Given the description of an element on the screen output the (x, y) to click on. 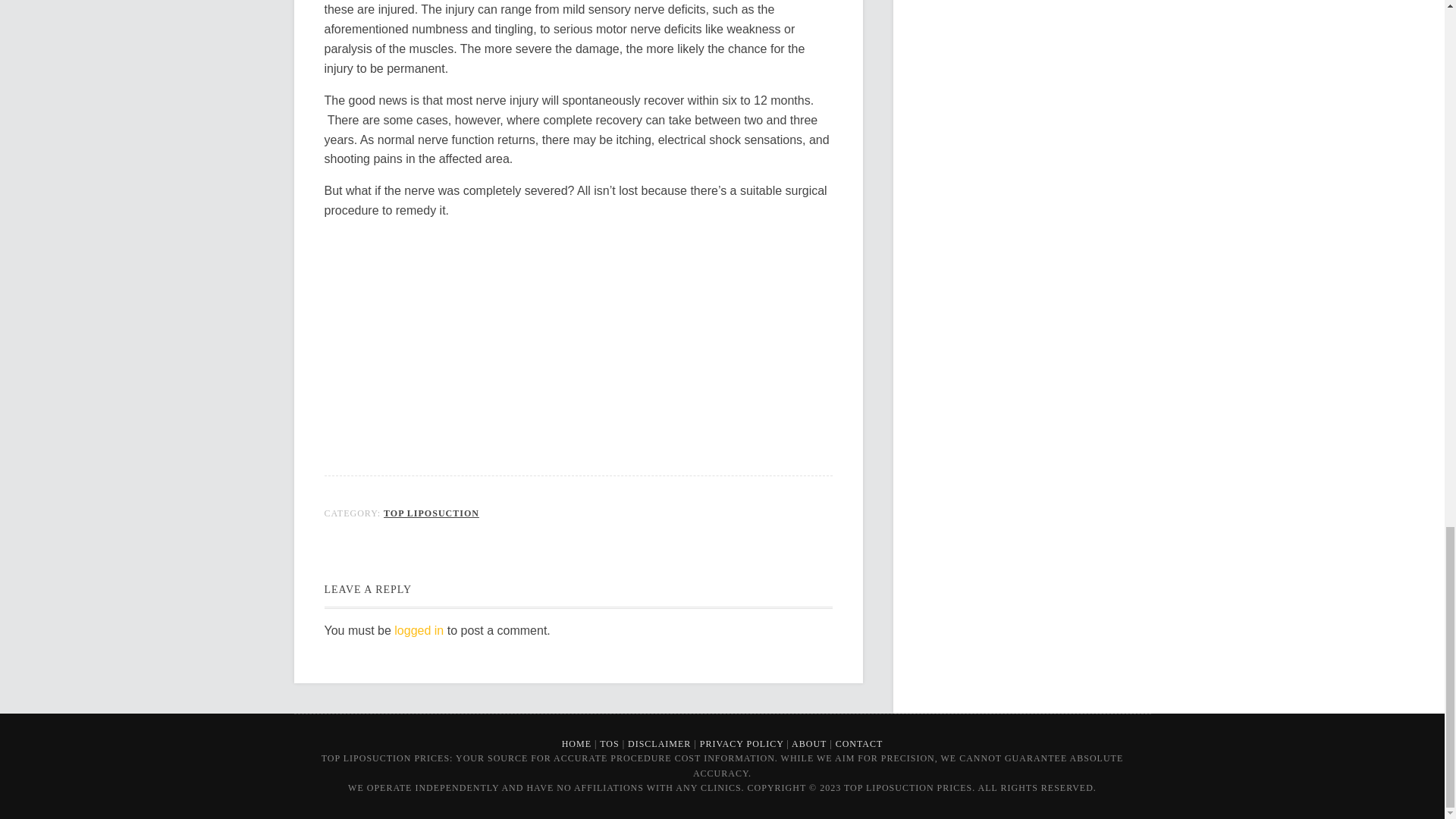
logged in (419, 630)
TOP LIPOSUCTION (431, 512)
Advertisement (578, 338)
